Given the description of an element on the screen output the (x, y) to click on. 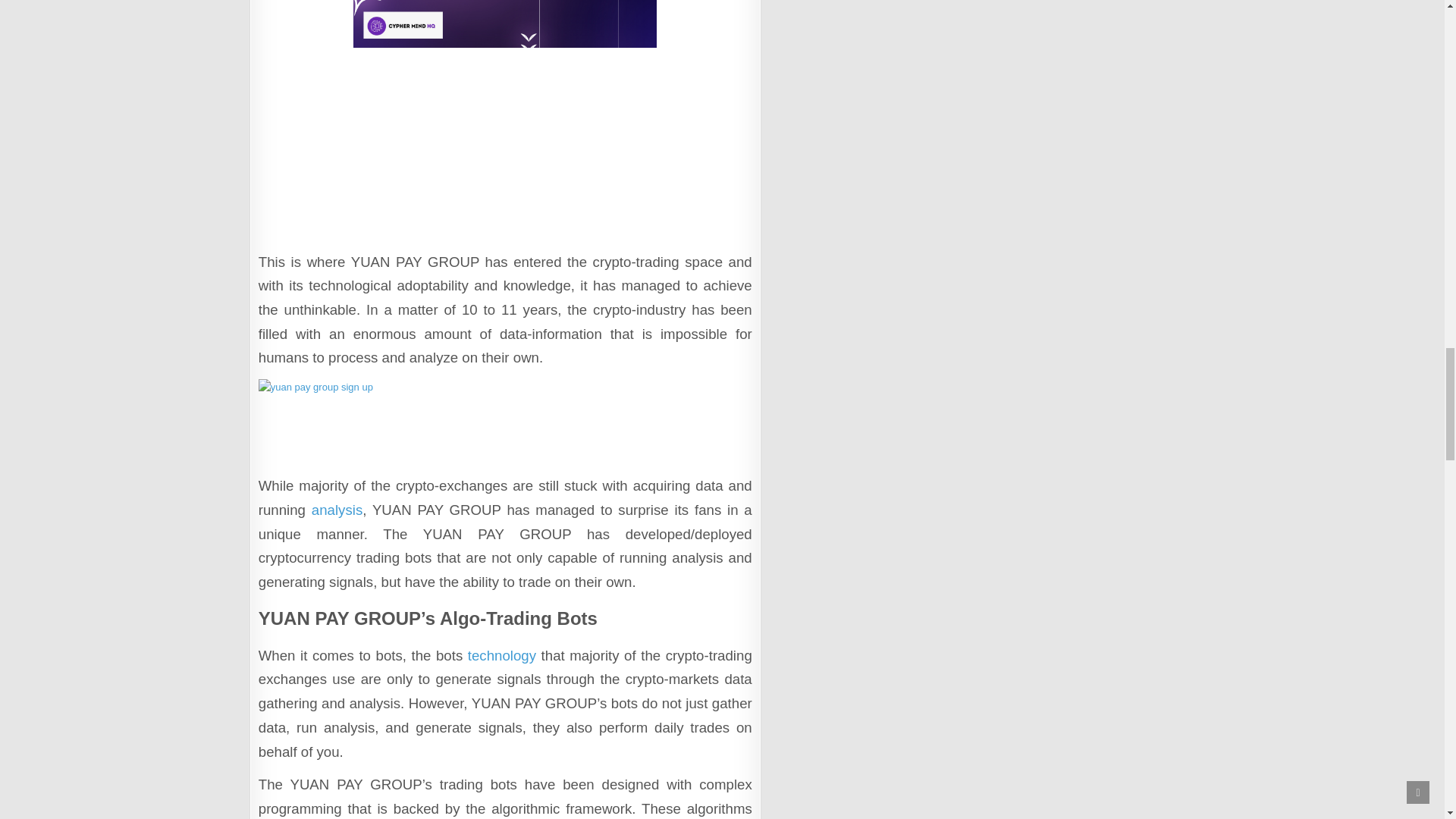
analysis (336, 509)
Cypher Mind HQ (504, 120)
technology (501, 655)
